Given the description of an element on the screen output the (x, y) to click on. 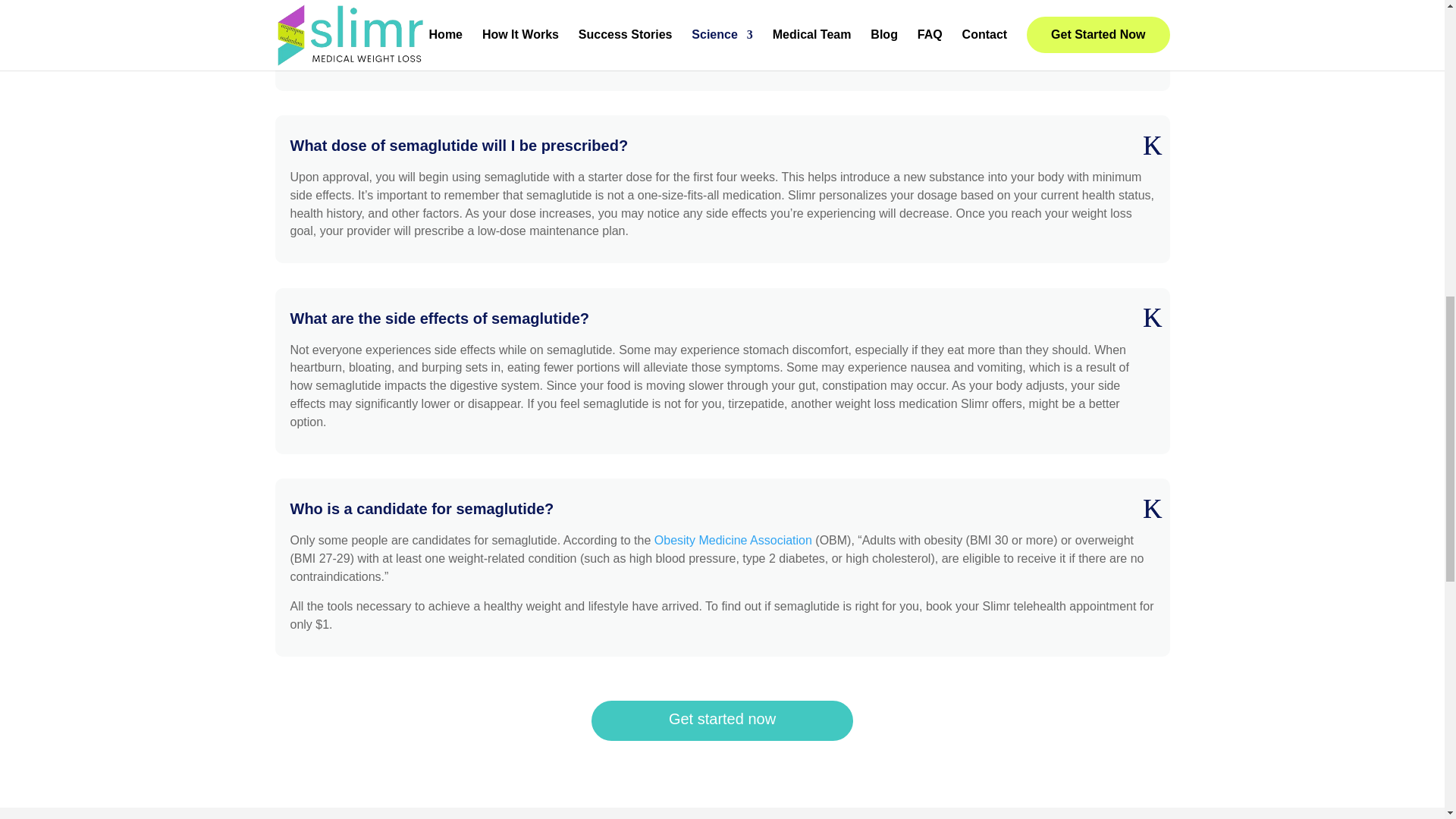
Obesity Medicine Association (732, 540)
Get started now (722, 721)
